Given the description of an element on the screen output the (x, y) to click on. 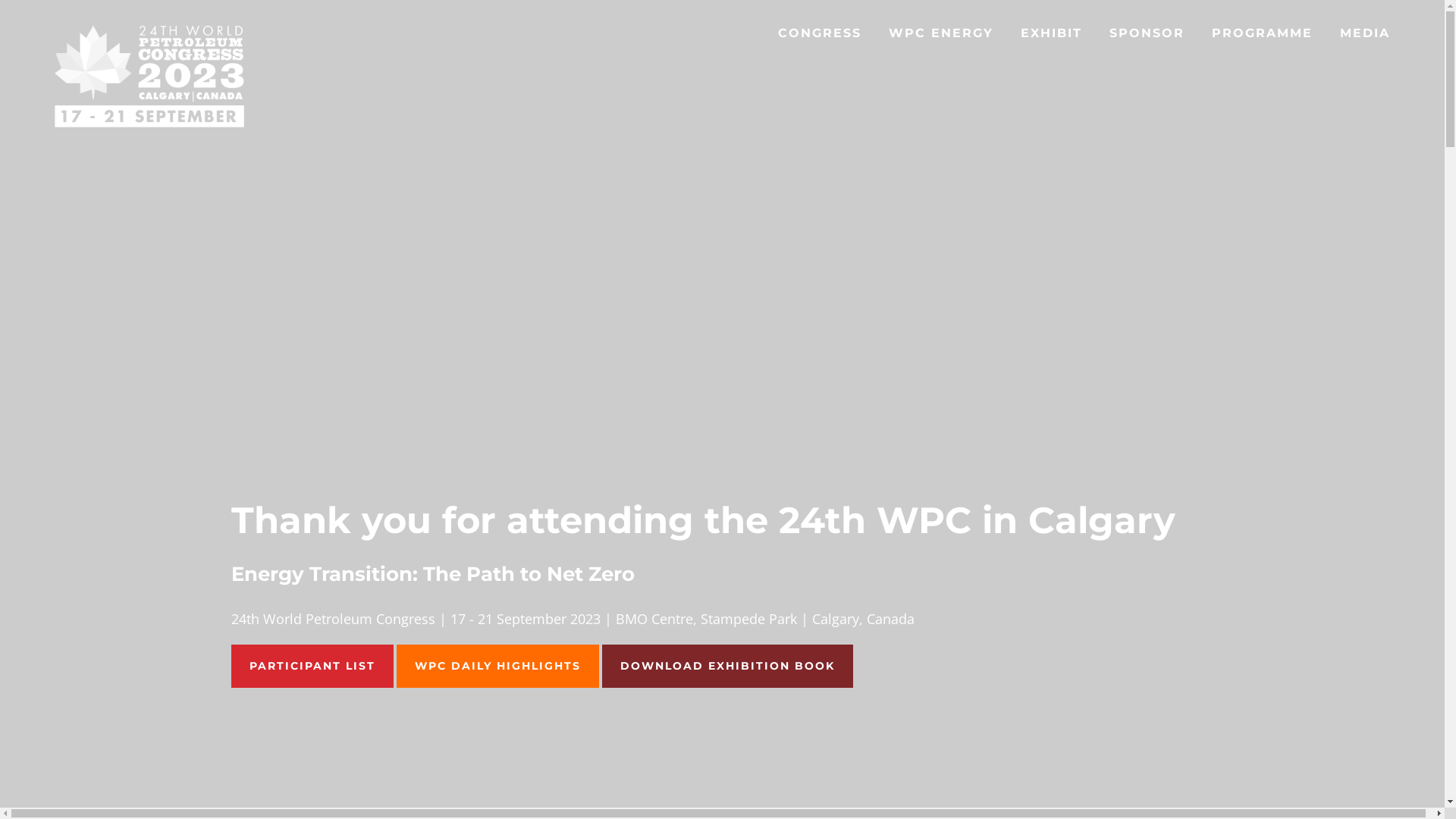
WPC ENERGY Element type: text (940, 34)
welcome Element type: hover (149, 124)
WPC DAILY HIGHLIGHTS Element type: text (496, 665)
CONGRESS Element type: text (819, 34)
DOWNLOAD EXHIBITION BOOK Element type: text (727, 665)
PARTICIPANT LIST Element type: text (311, 665)
